Given the description of an element on the screen output the (x, y) to click on. 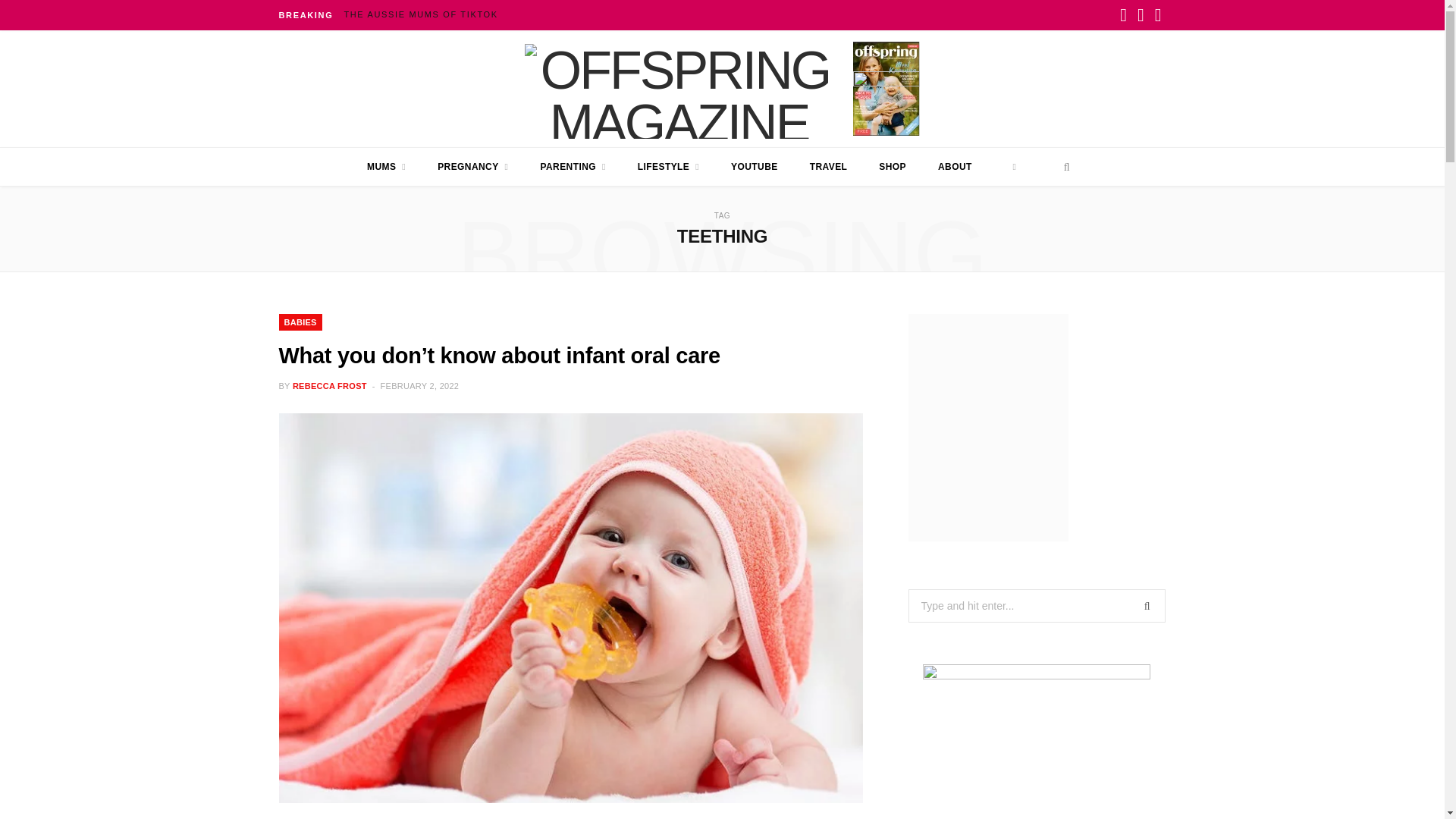
The Aussie Mums of Tiktok (424, 14)
LIFESTYLE (667, 166)
SHOP (892, 166)
TRAVEL (828, 166)
Offspring Magazine (679, 88)
THE AUSSIE MUMS OF TIKTOK (424, 14)
MUMS (386, 166)
Posts by Rebecca Frost (329, 385)
PREGNANCY (473, 166)
ABOUT (954, 166)
